Given the description of an element on the screen output the (x, y) to click on. 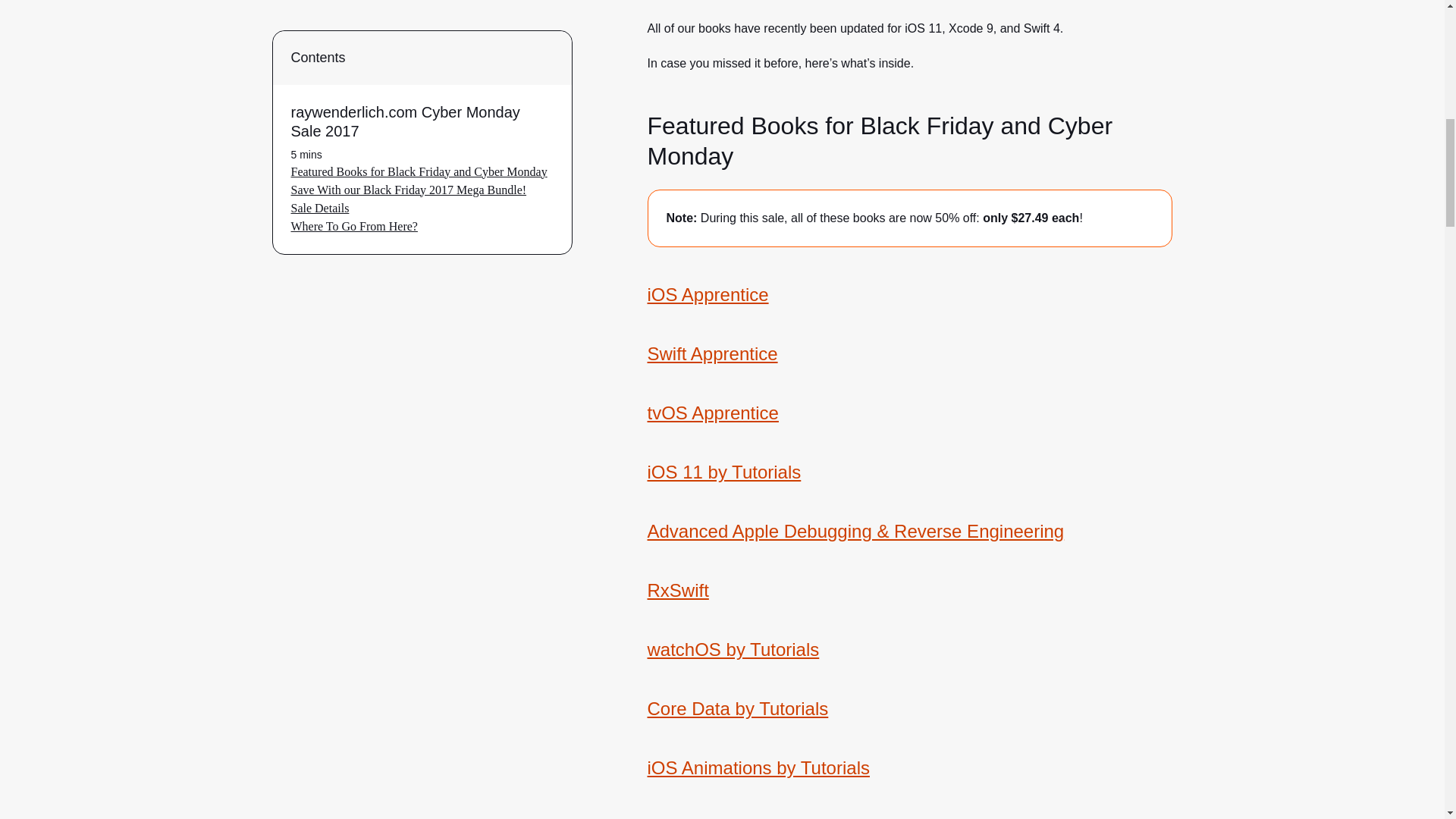
Where To Go From Here? (354, 38)
Save With our Black Friday 2017 Mega Bundle! (409, 4)
Sale Details (320, 19)
